Given the description of an element on the screen output the (x, y) to click on. 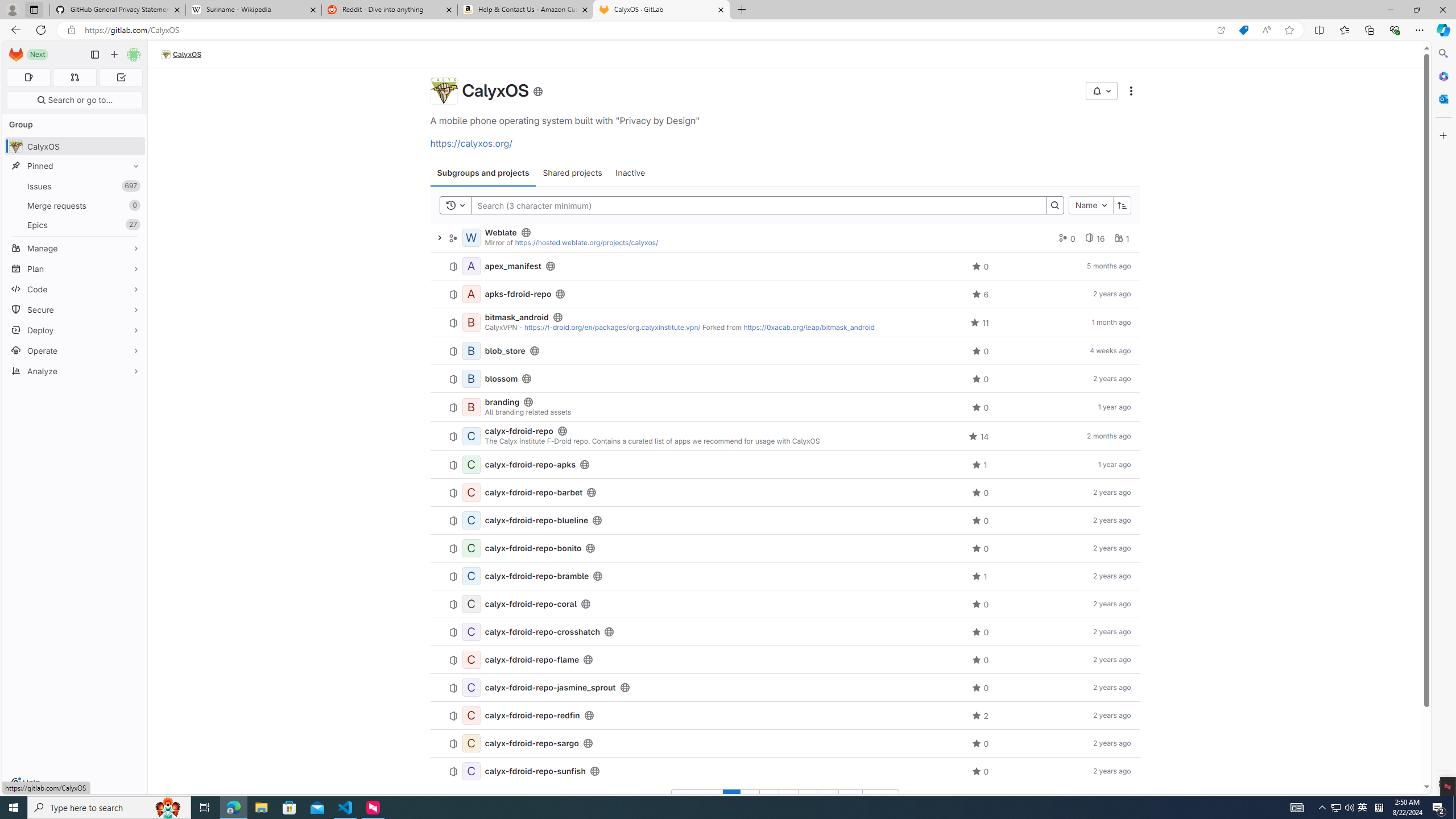
Deploy (74, 330)
avatar CalyxOS (74, 145)
Ccalyx-fdroid-repo-redfin22 years ago (784, 715)
More actions (1130, 90)
Go to next page (880, 799)
Bblob_store04 weeks ago (784, 351)
Ccalyx-fdroid-repo-bramble12 years ago (784, 576)
blossom (501, 378)
